Given the description of an element on the screen output the (x, y) to click on. 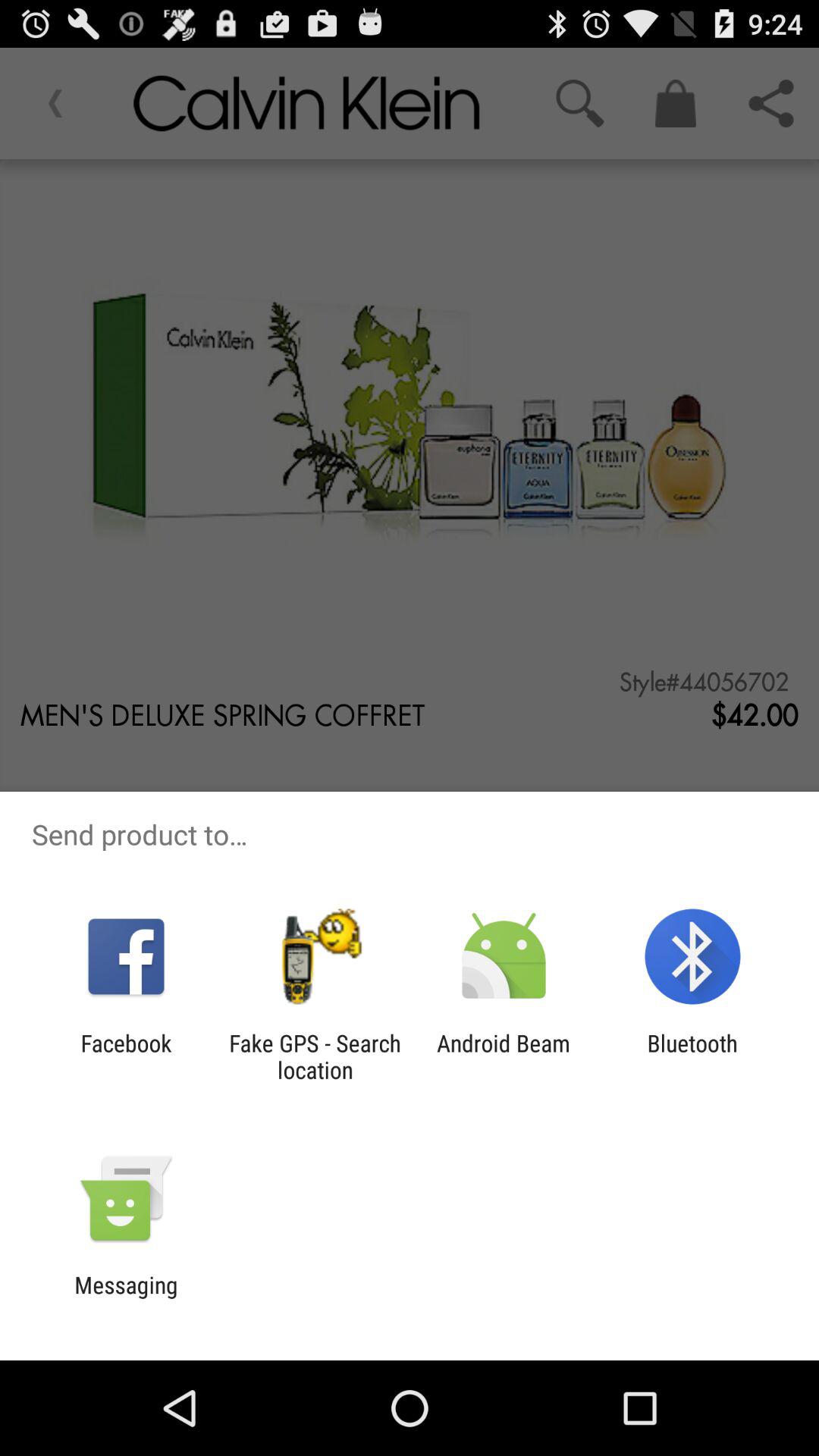
press icon to the right of android beam app (692, 1056)
